Given the description of an element on the screen output the (x, y) to click on. 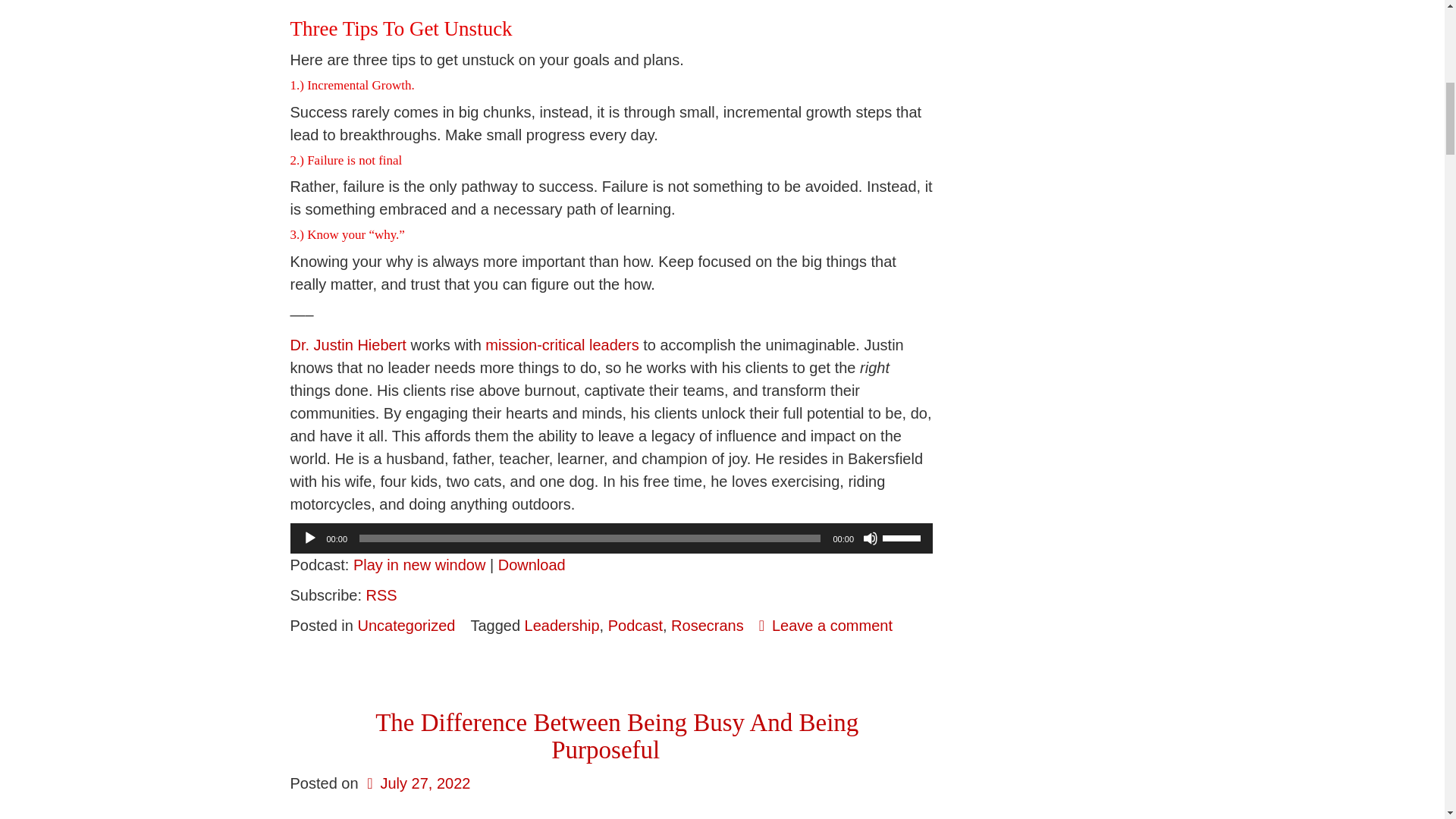
Download (531, 564)
Play in new window (419, 564)
mission-critical leaders (561, 344)
Mute (870, 538)
Rosecrans (707, 625)
Podcast (635, 625)
Download (531, 564)
Uncategorized (405, 625)
Dr. Justin Hiebert (347, 344)
Subscribe via RSS (381, 595)
